Given the description of an element on the screen output the (x, y) to click on. 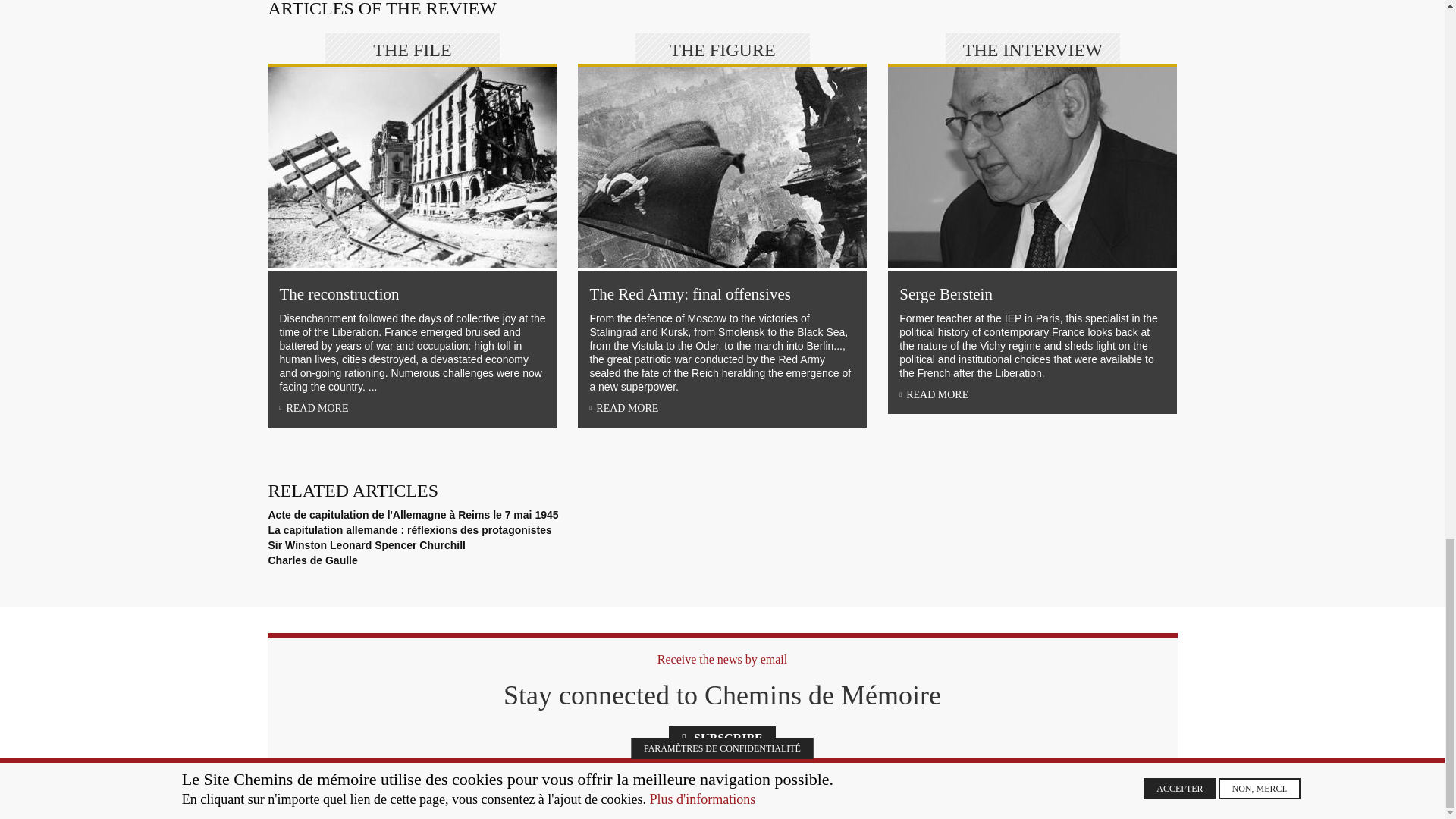
Serge Berstein (1032, 167)
The reconstruction (412, 167)
Sir Winston Leonard Spencer Churchill (366, 544)
Charles de Gaulle (312, 560)
The Red Army: final offensives (722, 167)
